Given the description of an element on the screen output the (x, y) to click on. 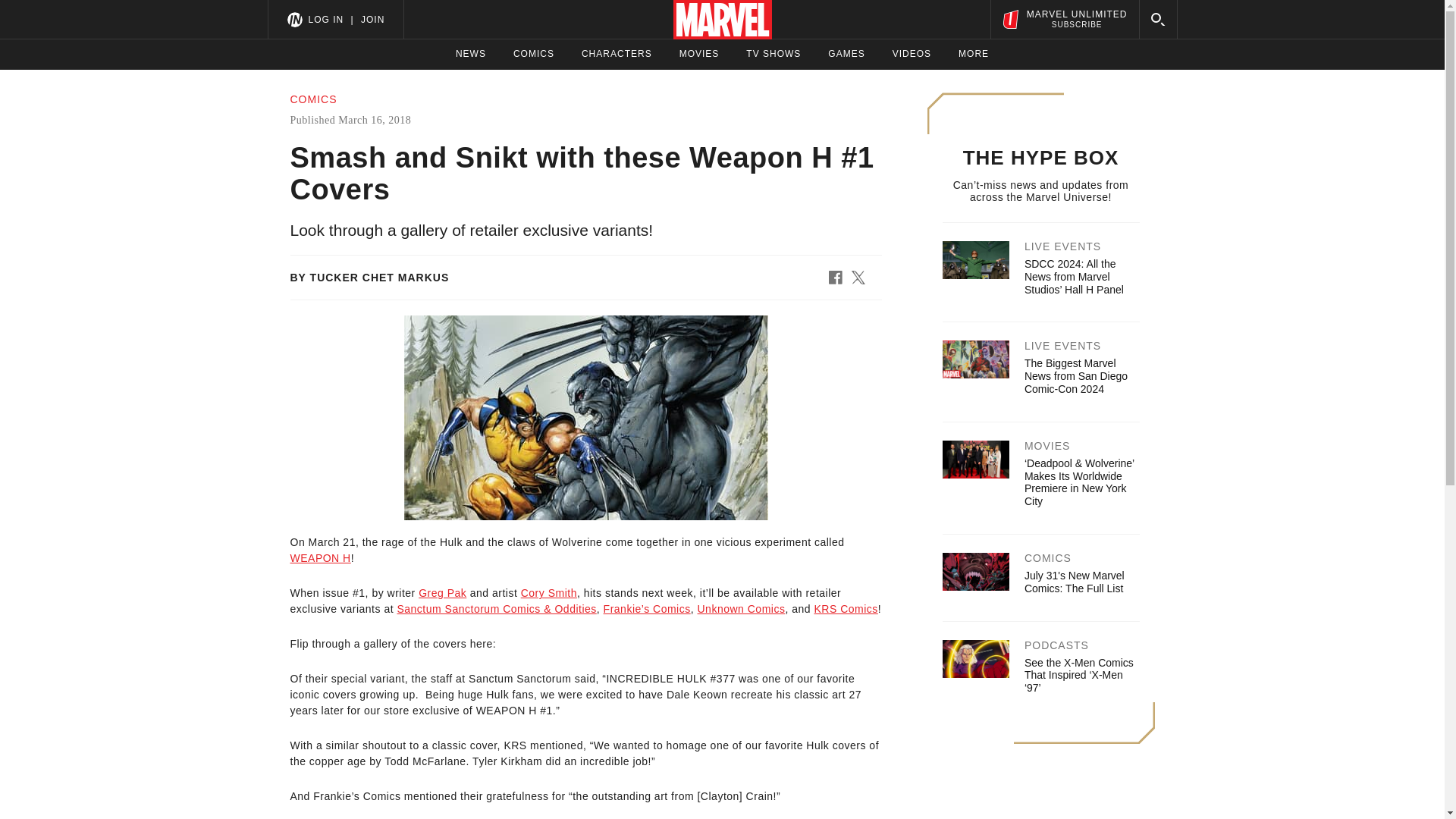
July 31's New Marvel Comics: The Full List (1074, 581)
TV SHOWS (772, 54)
MOVIES (699, 54)
WEAPON H (319, 558)
MORE (973, 54)
Unknown Comics (741, 608)
Cory Smith (548, 592)
The Biggest Marvel News from San Diego Comic-Con 2024 (1075, 375)
GAMES (846, 54)
VIDEOS (911, 54)
